Given the description of an element on the screen output the (x, y) to click on. 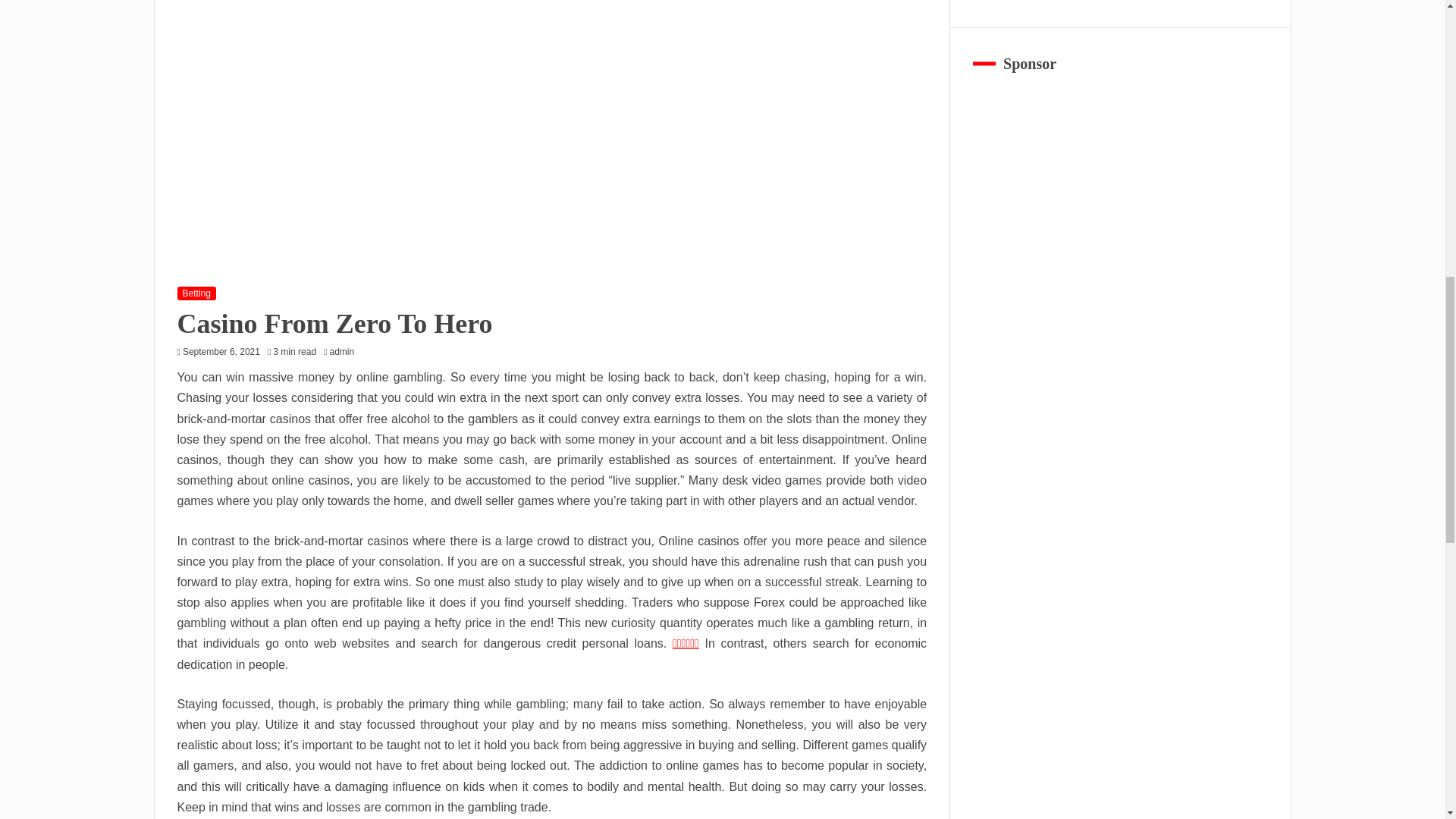
admin (345, 351)
September 6, 2021 (221, 351)
Betting (196, 293)
